Given the description of an element on the screen output the (x, y) to click on. 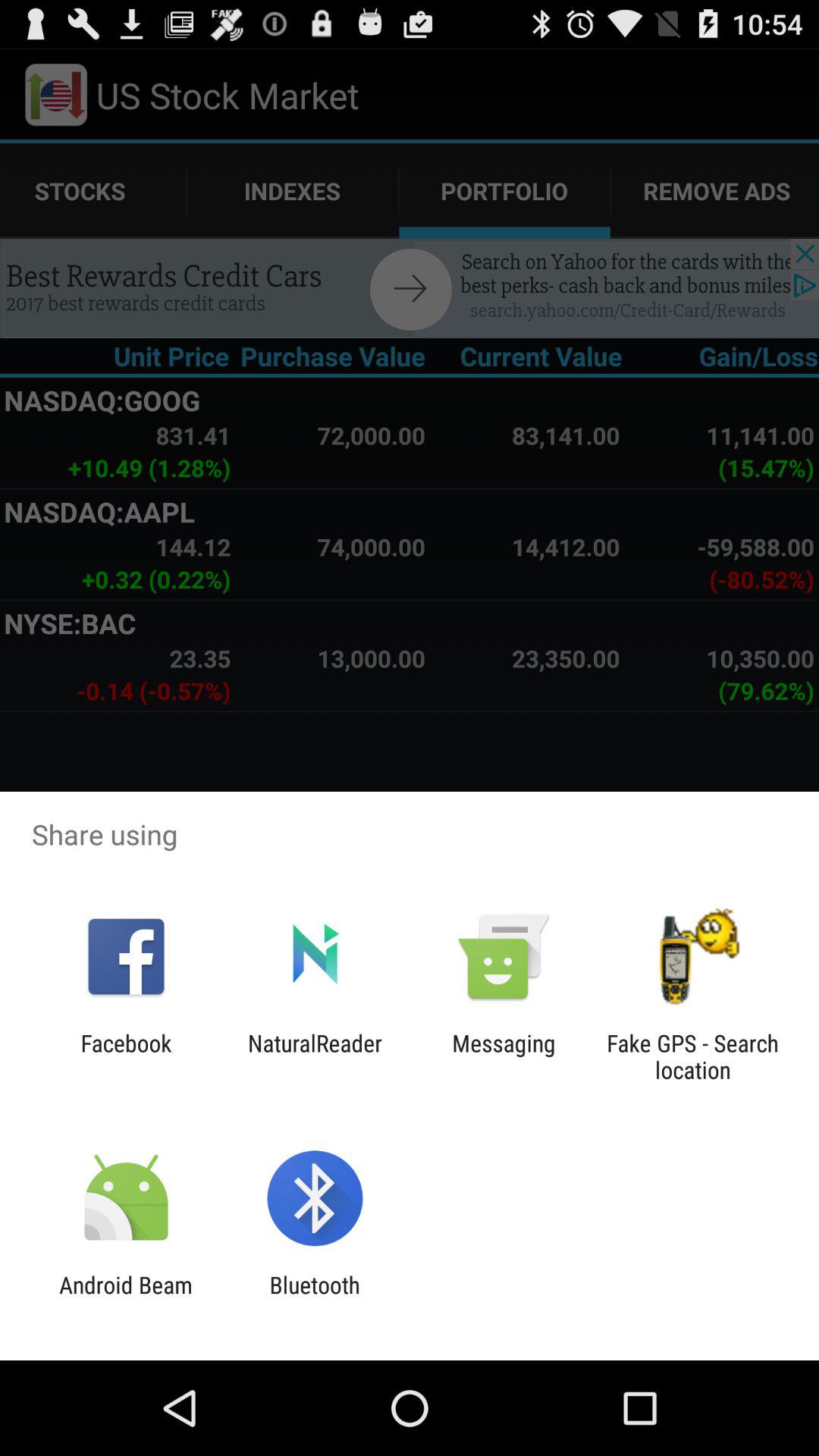
open naturalreader icon (314, 1056)
